Given the description of an element on the screen output the (x, y) to click on. 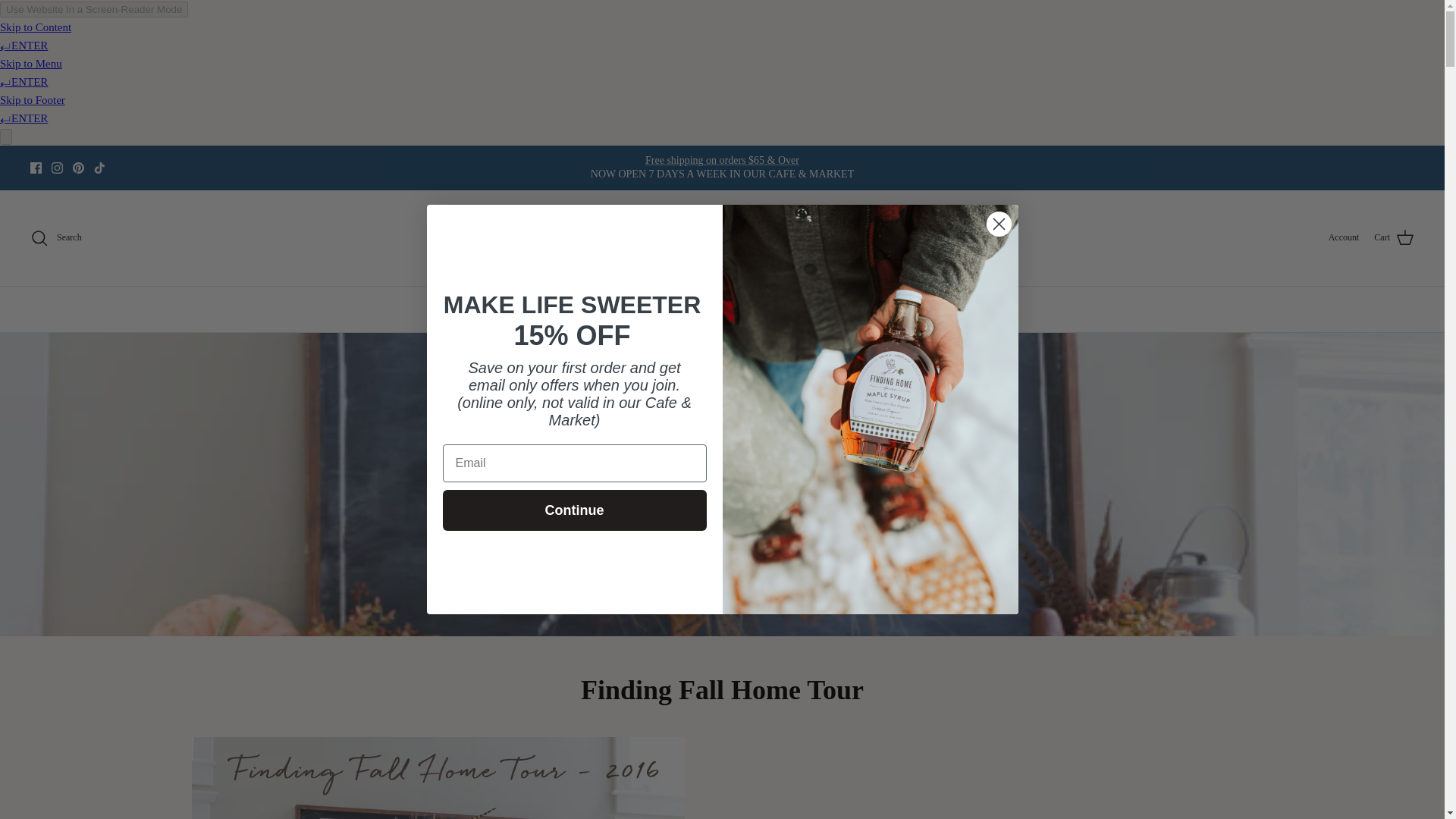
Instagram (56, 167)
Pinterest (78, 167)
Search (55, 238)
Pinterest (78, 167)
Facebook (36, 167)
Finding Home Farms (722, 238)
Account (1343, 237)
Cart (1393, 238)
Facebook (36, 167)
SHOP (454, 309)
Instagram (56, 167)
